Given the description of an element on the screen output the (x, y) to click on. 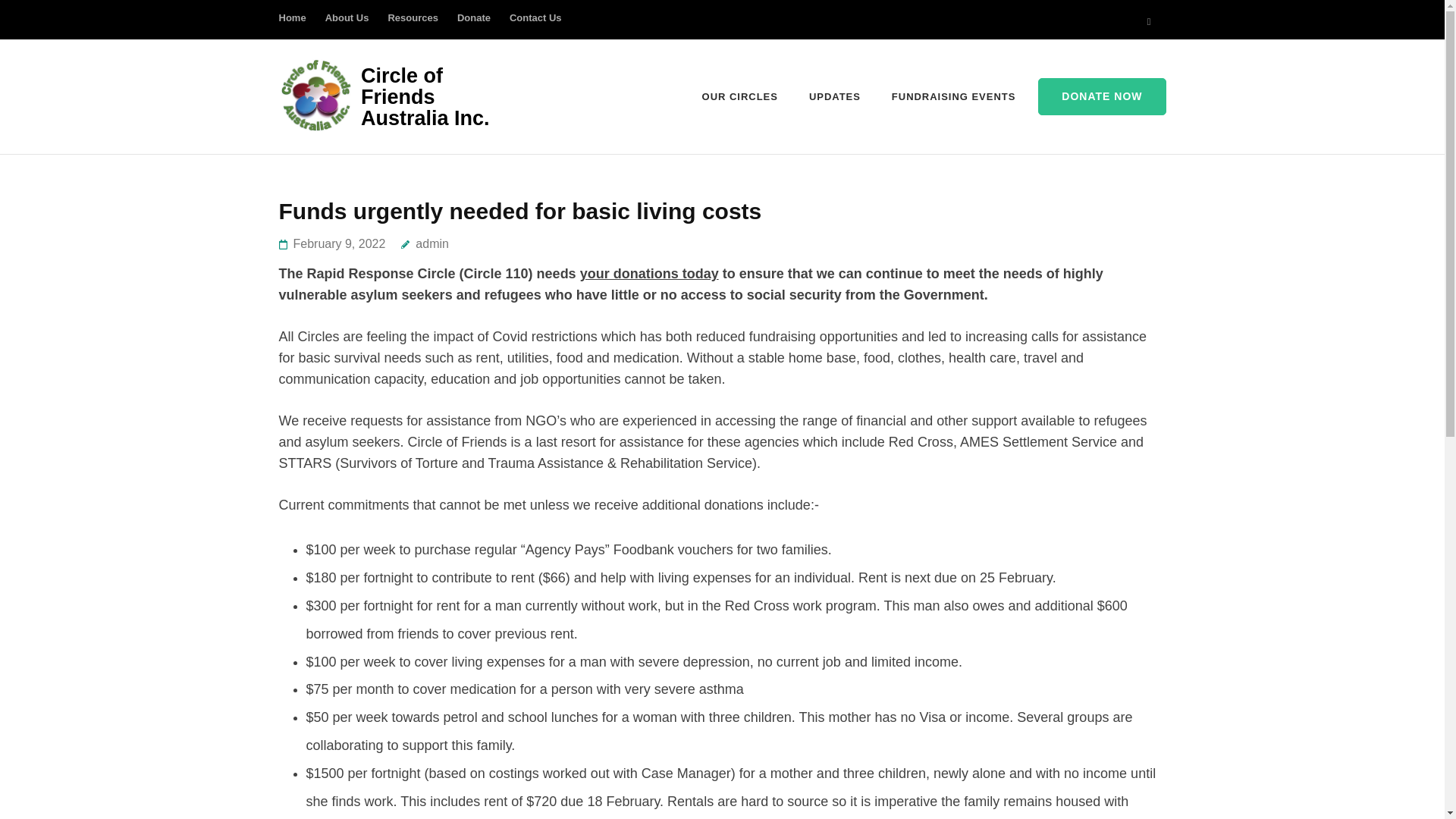
Contact Us (535, 25)
Circle of Friends Australia Inc. (425, 96)
UPDATES (834, 96)
Donate (473, 25)
About Us (346, 25)
About Us (346, 25)
OUR CIRCLES (739, 96)
FUNDRAISING EVENTS (952, 96)
your donations today (649, 273)
Home (292, 25)
